Given the description of an element on the screen output the (x, y) to click on. 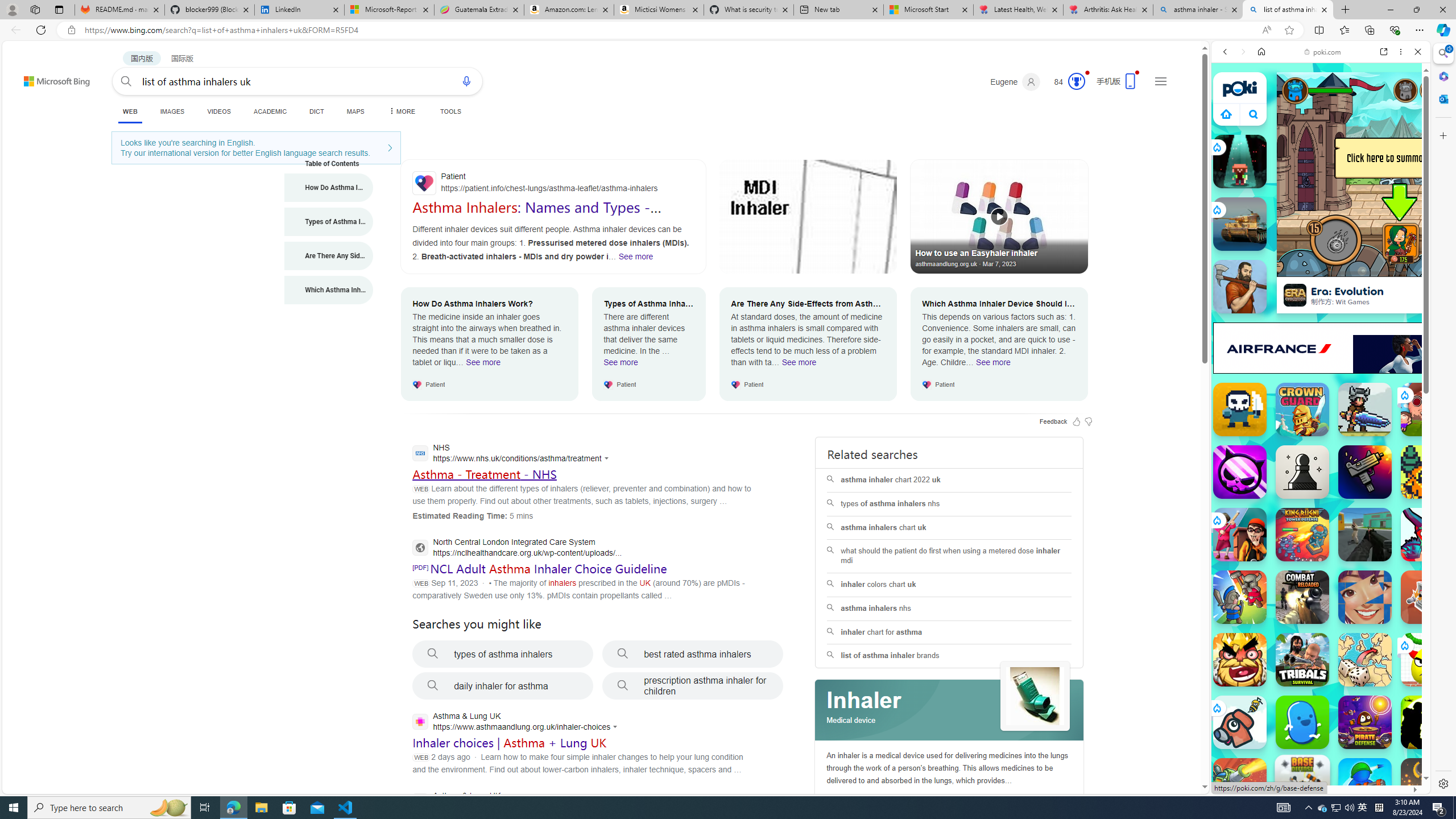
Ragdoll Hit Ragdoll Hit (1427, 784)
Sports Games (1320, 379)
